Given the description of an element on the screen output the (x, y) to click on. 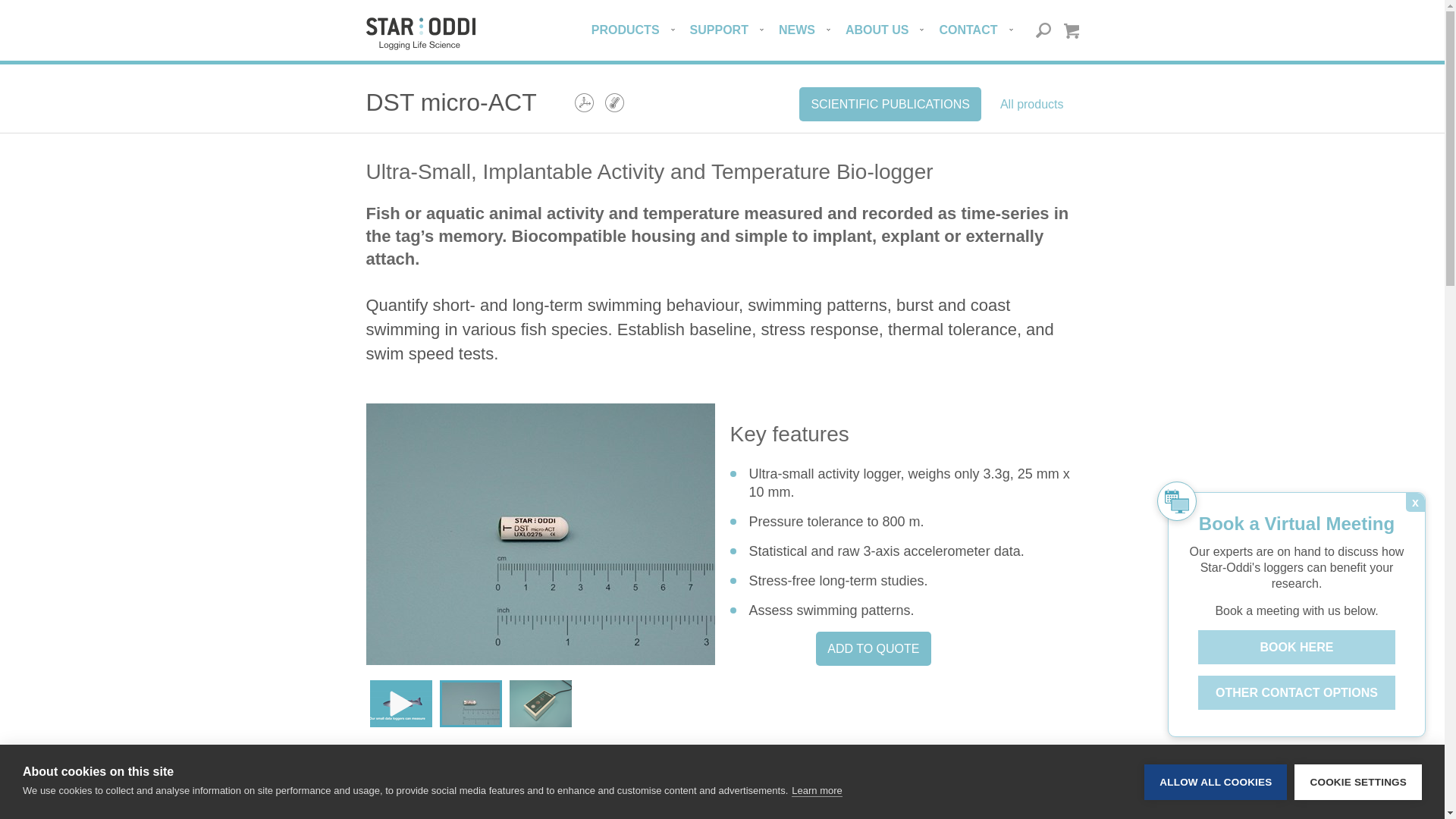
Star-oddi (419, 33)
COOKIE SETTINGS (1358, 816)
NEWS (809, 29)
Quote basket (1070, 30)
Search (1043, 30)
SUPPORT (732, 29)
ABOUT US (890, 29)
PRODUCTS (638, 29)
